Given the description of an element on the screen output the (x, y) to click on. 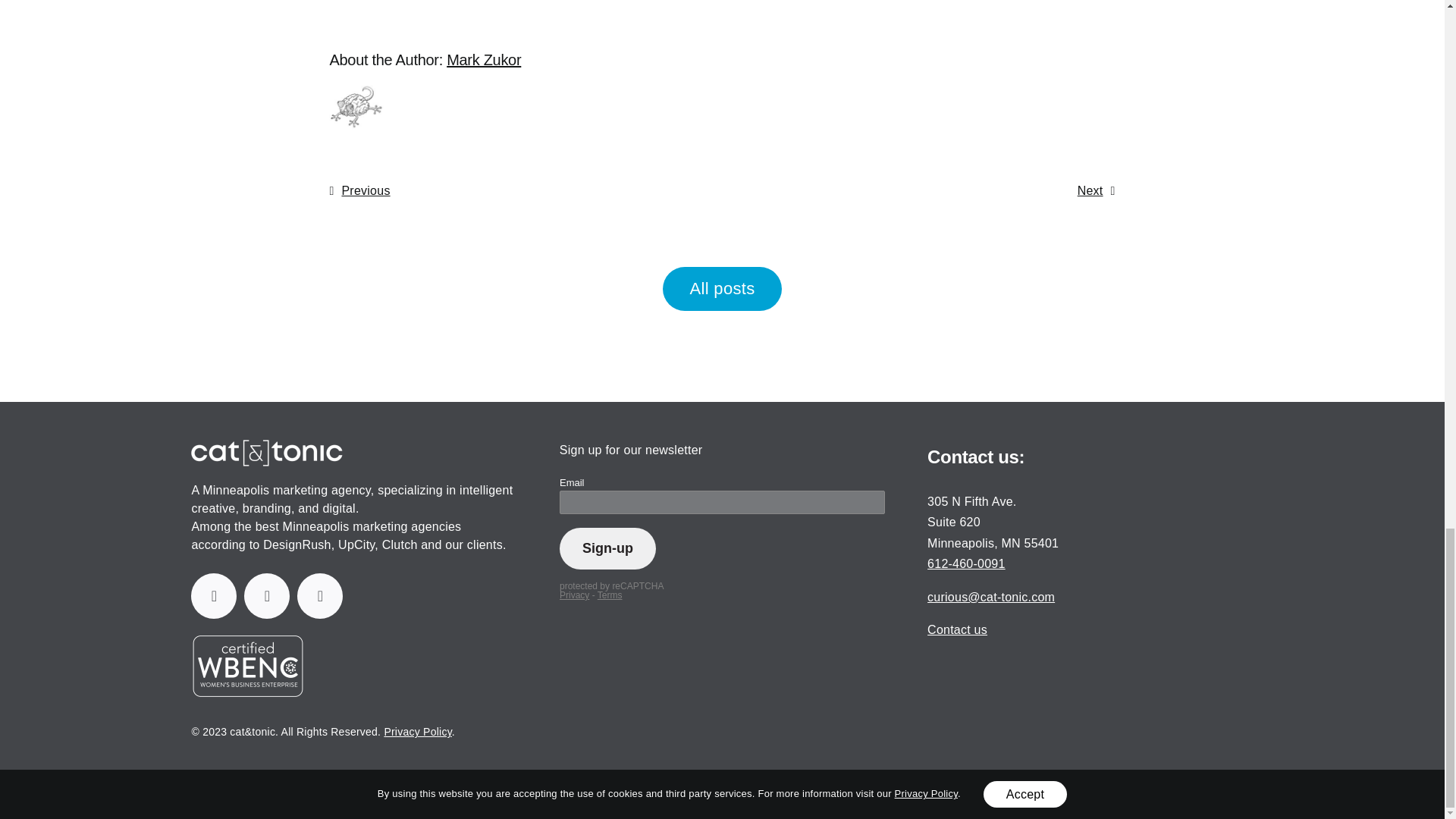
Contact us (957, 629)
612-460-0091 (966, 563)
LinkedIn (212, 596)
All posts (721, 288)
Next (1096, 191)
Previous (359, 191)
Privacy Policy (417, 731)
Facebook (266, 596)
Mark Zukor (483, 59)
Instagram (319, 596)
